Given the description of an element on the screen output the (x, y) to click on. 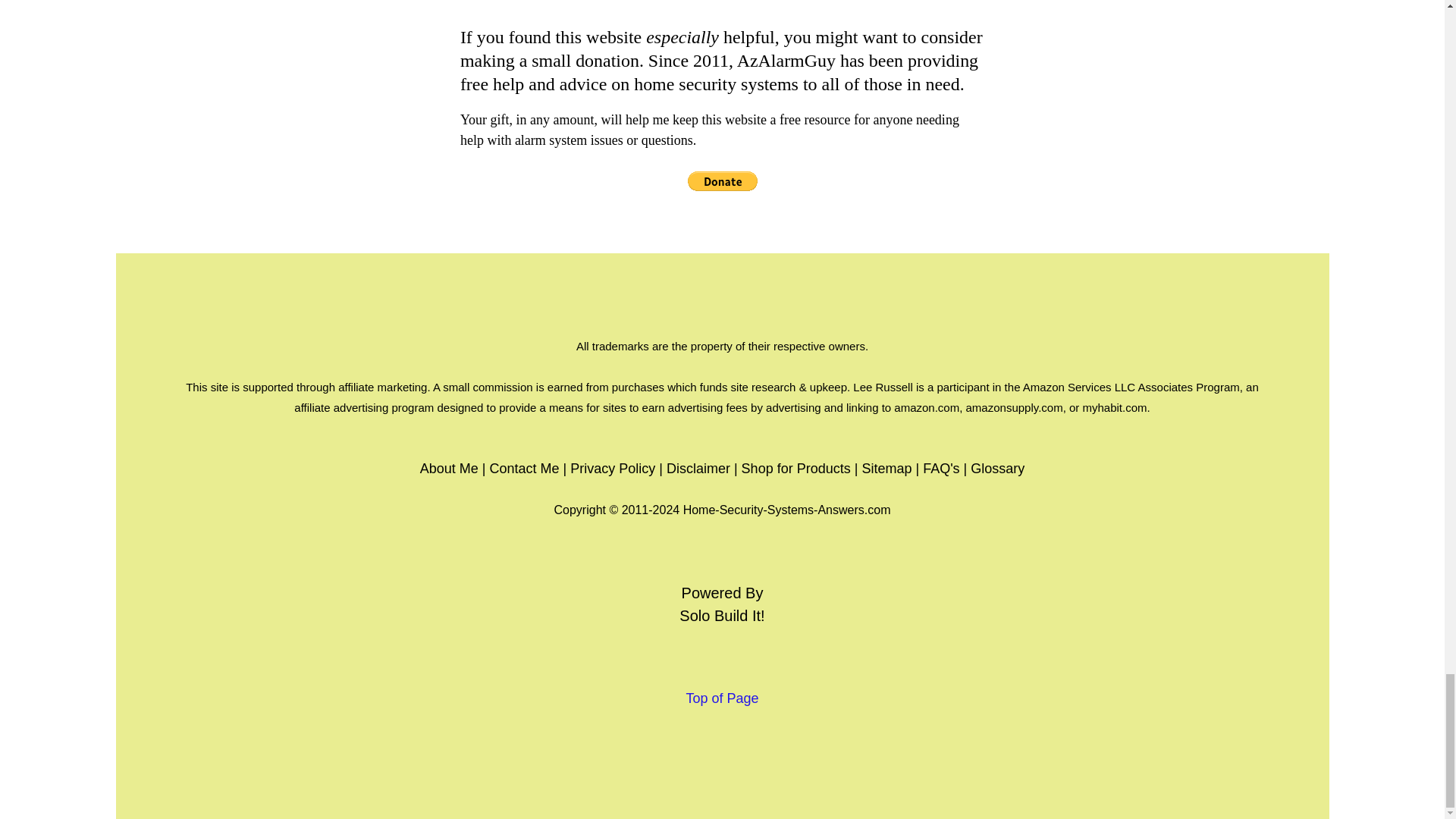
PayPal - The safer, easier way to pay online! (722, 180)
